Given the description of an element on the screen output the (x, y) to click on. 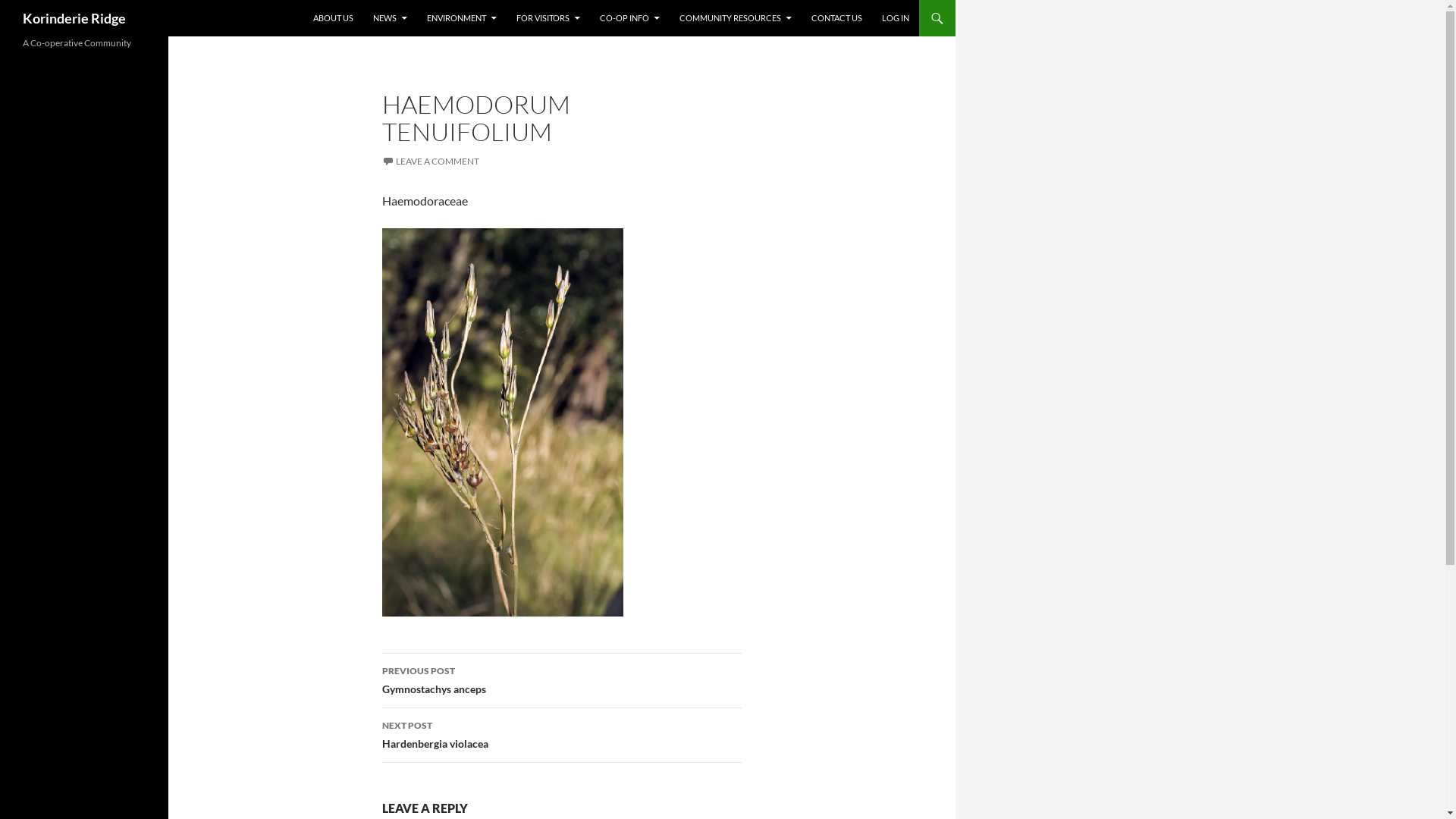
LOG IN Element type: text (895, 18)
ENVIRONMENT Element type: text (461, 18)
Haemodorum tenuifolium.png Element type: hover (503, 422)
FOR VISITORS Element type: text (548, 18)
CONTACT US Element type: text (836, 18)
COMMUNITY RESOURCES Element type: text (735, 18)
NEXT POST
Hardenbergia violacea Element type: text (561, 735)
LEAVE A COMMENT Element type: text (430, 160)
CO-OP INFO Element type: text (629, 18)
Korinderie Ridge Element type: text (73, 18)
ABOUT US Element type: text (333, 18)
NEWS Element type: text (390, 18)
PREVIOUS POST
Gymnostachys anceps Element type: text (561, 680)
